Given the description of an element on the screen output the (x, y) to click on. 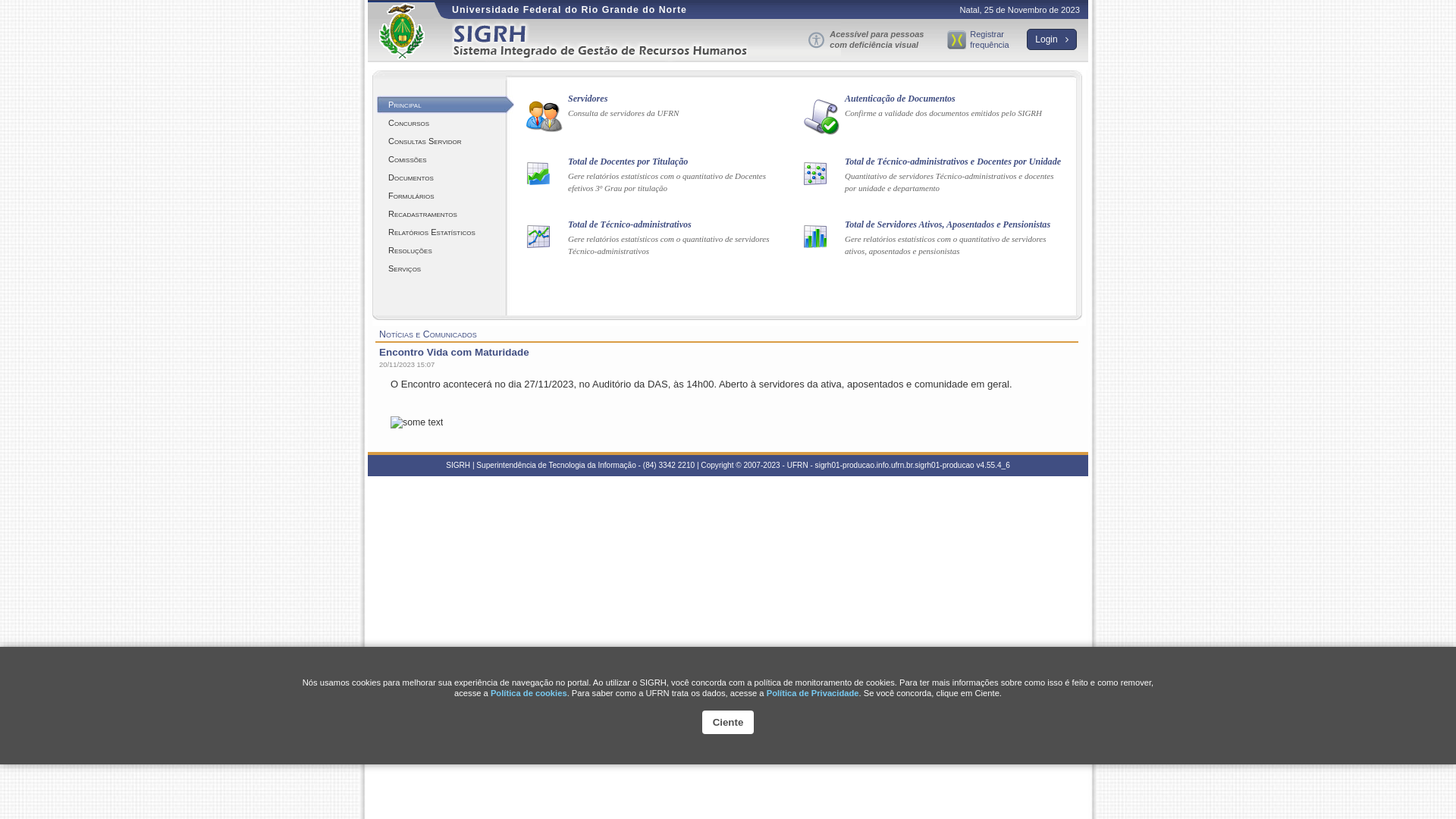
Ciente Element type: text (728, 722)
v4.55.4_6 Element type: text (993, 465)
Login Element type: text (1051, 39)
Servidores
Consulta de servidores da UFRN Element type: text (656, 117)
